Given the description of an element on the screen output the (x, y) to click on. 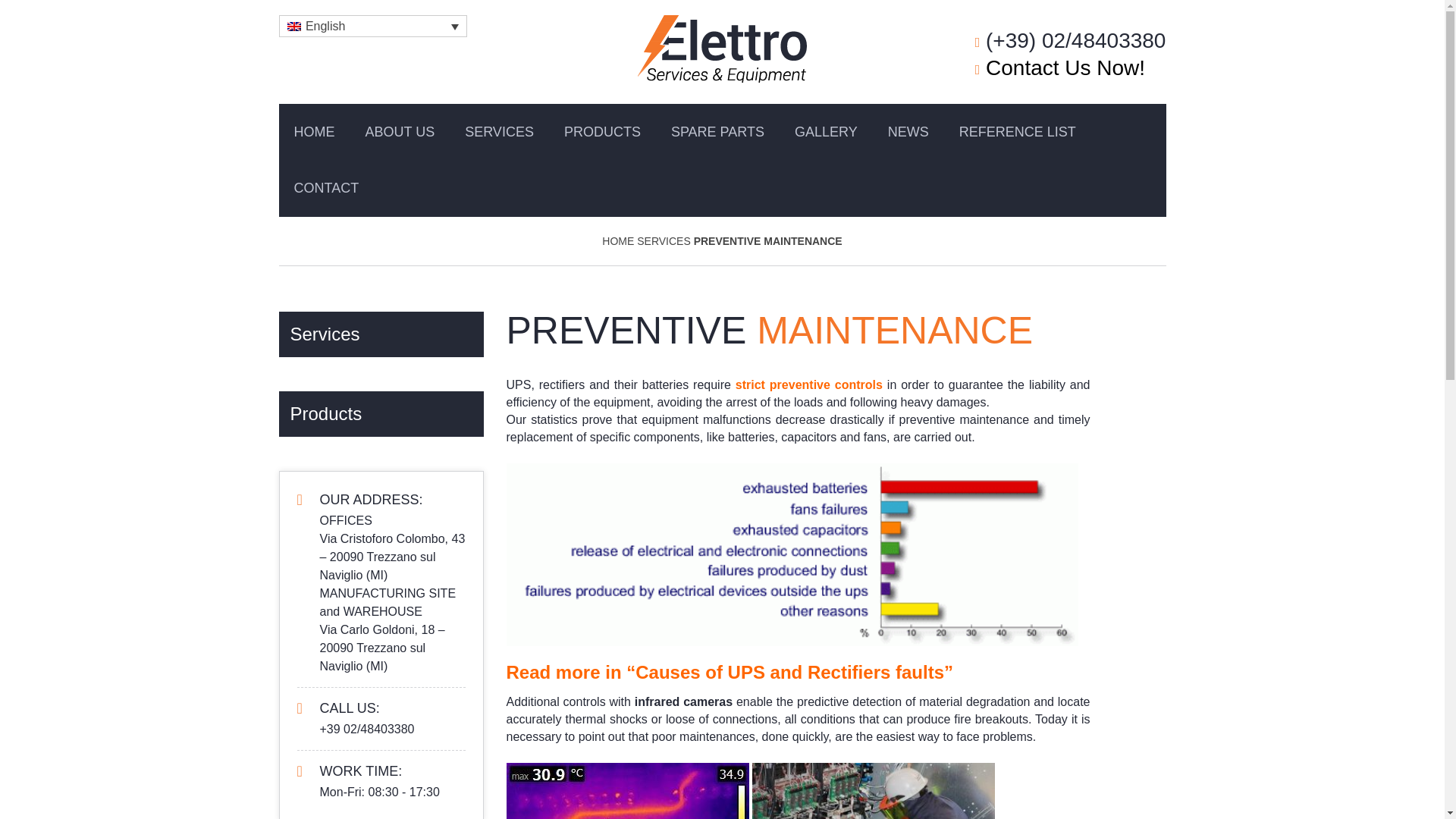
SPARE PARTS (717, 131)
Services (381, 334)
NEWS (907, 131)
GALLERY (825, 131)
SERVICES (498, 131)
English (292, 26)
ABOUT US (399, 131)
REFERENCE LIST (1016, 131)
SERVICES (663, 241)
PRODUCTS (602, 131)
